Given the description of an element on the screen output the (x, y) to click on. 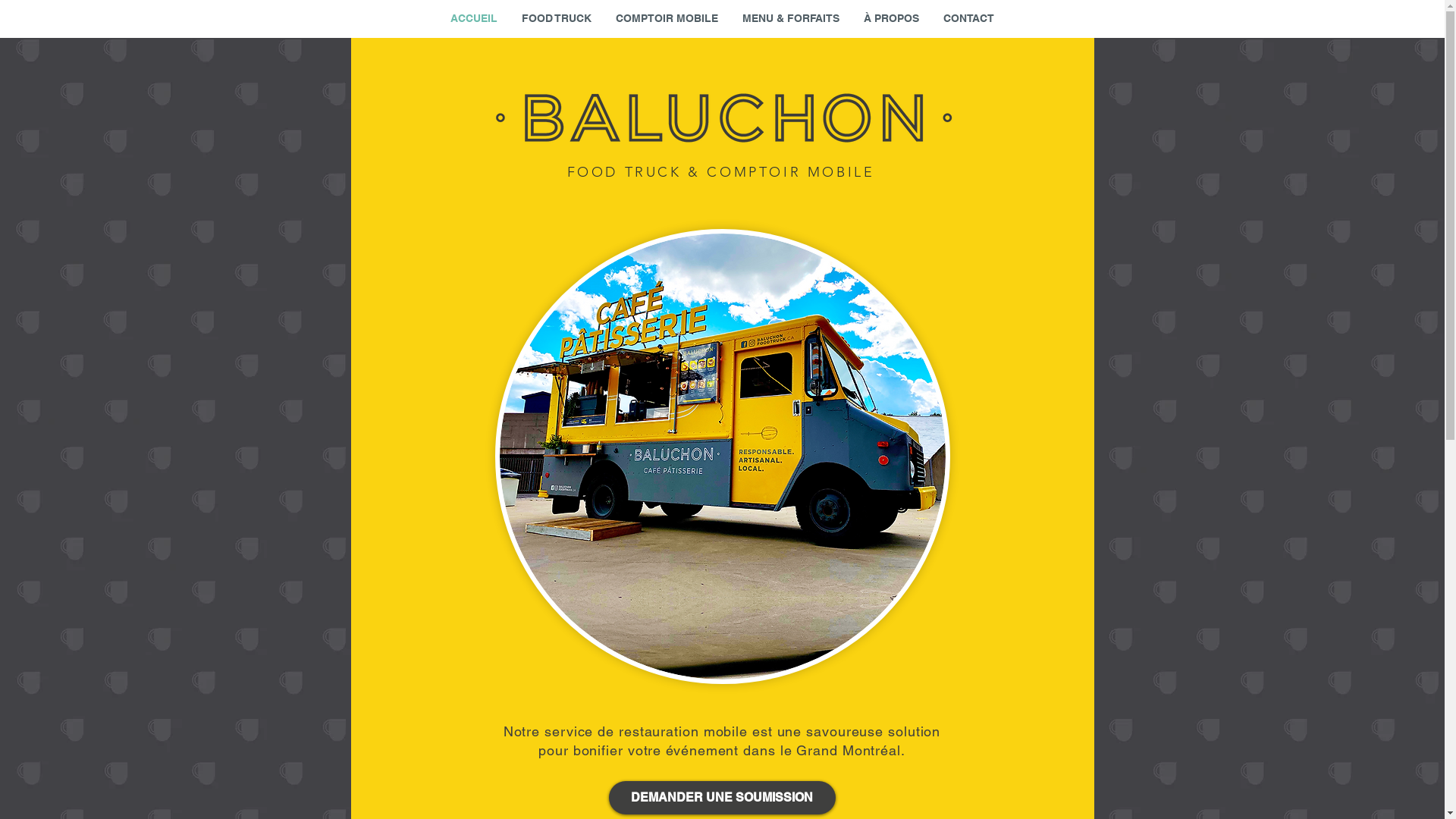
COMPTOIR MOBILE Element type: text (666, 18)
CONTACT Element type: text (968, 18)
ACCUEIL Element type: text (473, 18)
DEMANDER UNE SOUMISSION Element type: text (721, 797)
FOOD TRUCK Element type: text (556, 18)
MENU & FORFAITS Element type: text (789, 18)
